Given the description of an element on the screen output the (x, y) to click on. 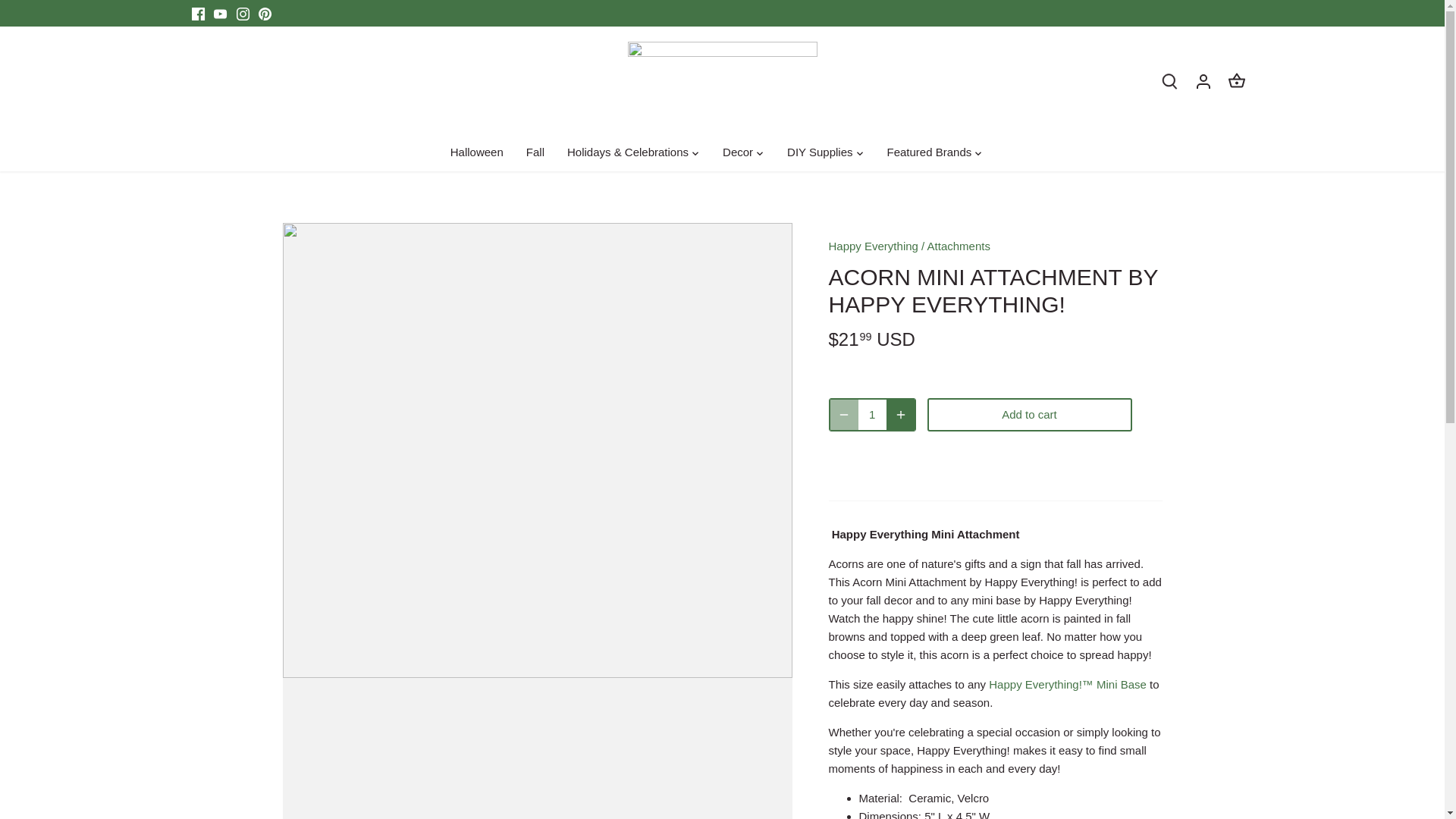
Facebook (196, 13)
Halloween (482, 152)
Instagram (241, 13)
1 (872, 414)
Youtube (220, 13)
Pinterest (265, 13)
Fall (535, 152)
